Given the description of an element on the screen output the (x, y) to click on. 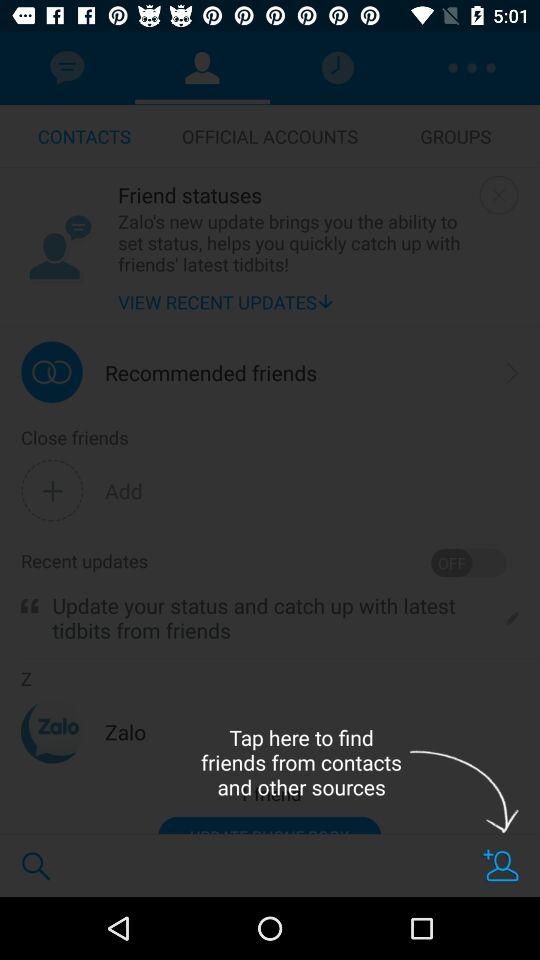
turn off the item next to friend statuses icon (498, 194)
